Given the description of an element on the screen output the (x, y) to click on. 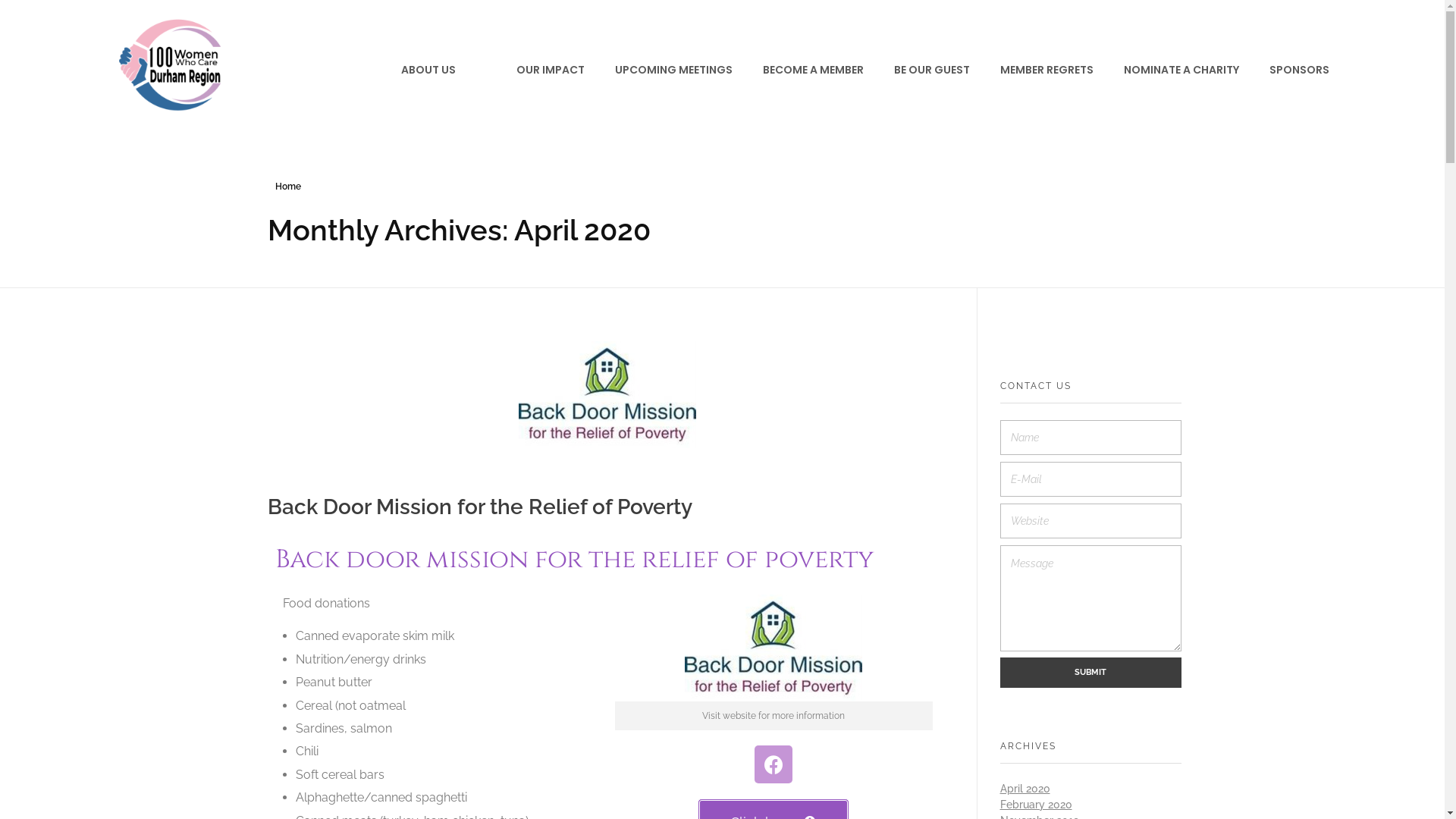
Home Element type: text (287, 186)
ABOUT US Element type: text (412, 70)
BE OUR GUEST Element type: text (915, 70)
OUR IMPACT Element type: text (534, 70)
February 2020 Element type: text (1035, 804)
100 + Women Who Care Durham Region Element type: hover (172, 68)
NOMINATE A CHARITY Element type: text (1166, 70)
MEMBER REGRETS Element type: text (1030, 70)
BECOME A MEMBER Element type: text (797, 70)
Privacy Policy Element type: text (862, 784)
UPCOMING MEETINGS Element type: text (657, 70)
Back Door Mission for the Relief of Poverty Element type: text (478, 506)
100 + Women Who Care Durham Region Element type: text (285, 133)
SPONSORS Element type: text (1284, 70)
Submit Element type: text (1089, 672)
April 2020 Element type: text (1024, 788)
